Given the description of an element on the screen output the (x, y) to click on. 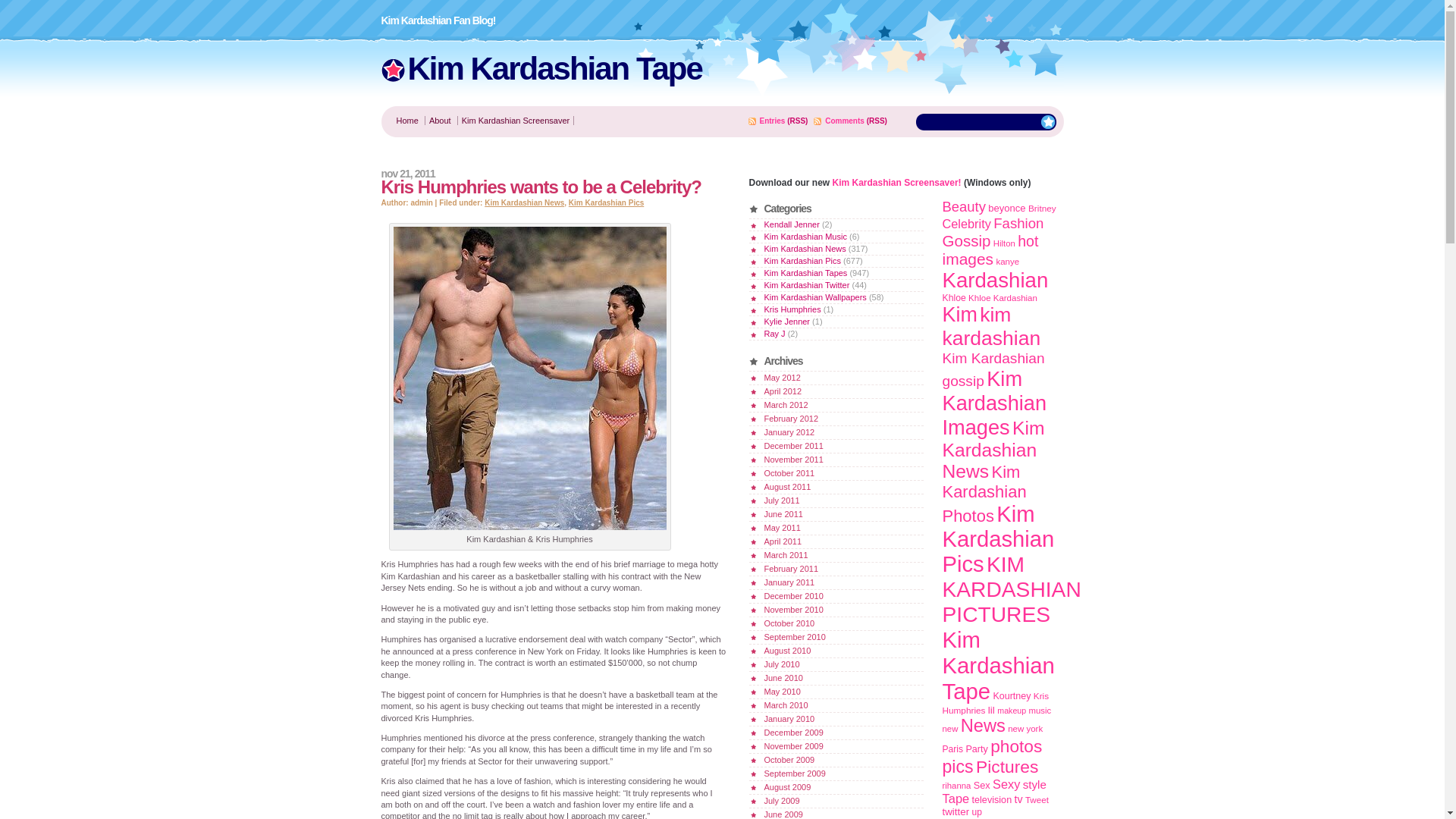
View all posts in Kim Kardashian Pics (606, 203)
Kim Kardashian Pics (606, 203)
View all posts in Kim Kardashian News (524, 203)
Kim-Kardashian-Kris-Humphries (529, 377)
Comments (844, 121)
Home (406, 120)
Kim Kardashian News (524, 203)
Kim Kardashian Screensaver (515, 120)
Kim Kardashian Tape (554, 68)
Permanent Link to Kris Humphries wants to be a Celebrity? (540, 186)
Kris Humphries wants to be a Celebrity? (540, 186)
Entries (773, 121)
About (440, 120)
